Given the description of an element on the screen output the (x, y) to click on. 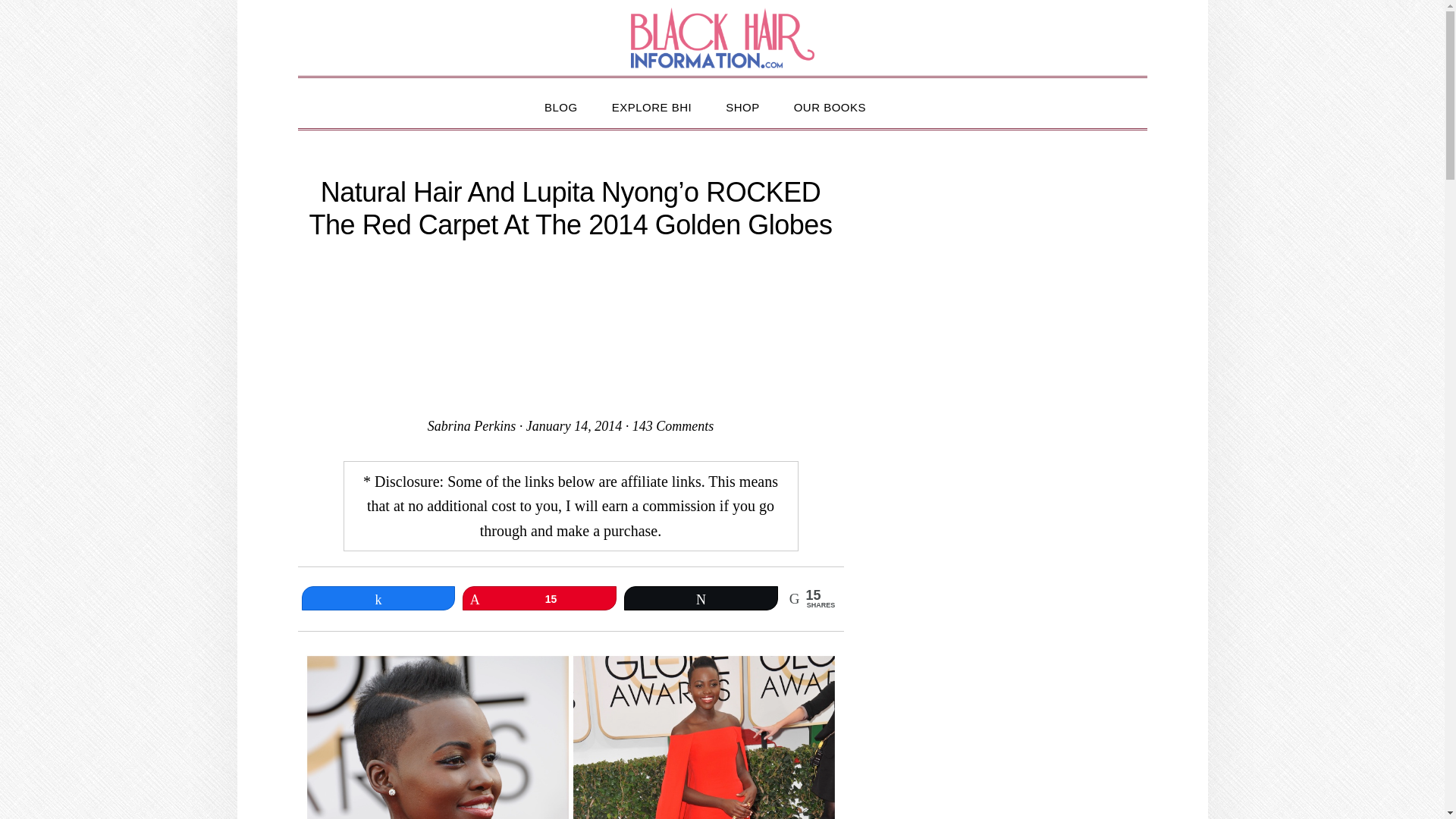
BLACK HAIR INFORMATION (721, 37)
SHOP (742, 105)
BLOG (560, 105)
EXPLORE BHI (651, 105)
